Given the description of an element on the screen output the (x, y) to click on. 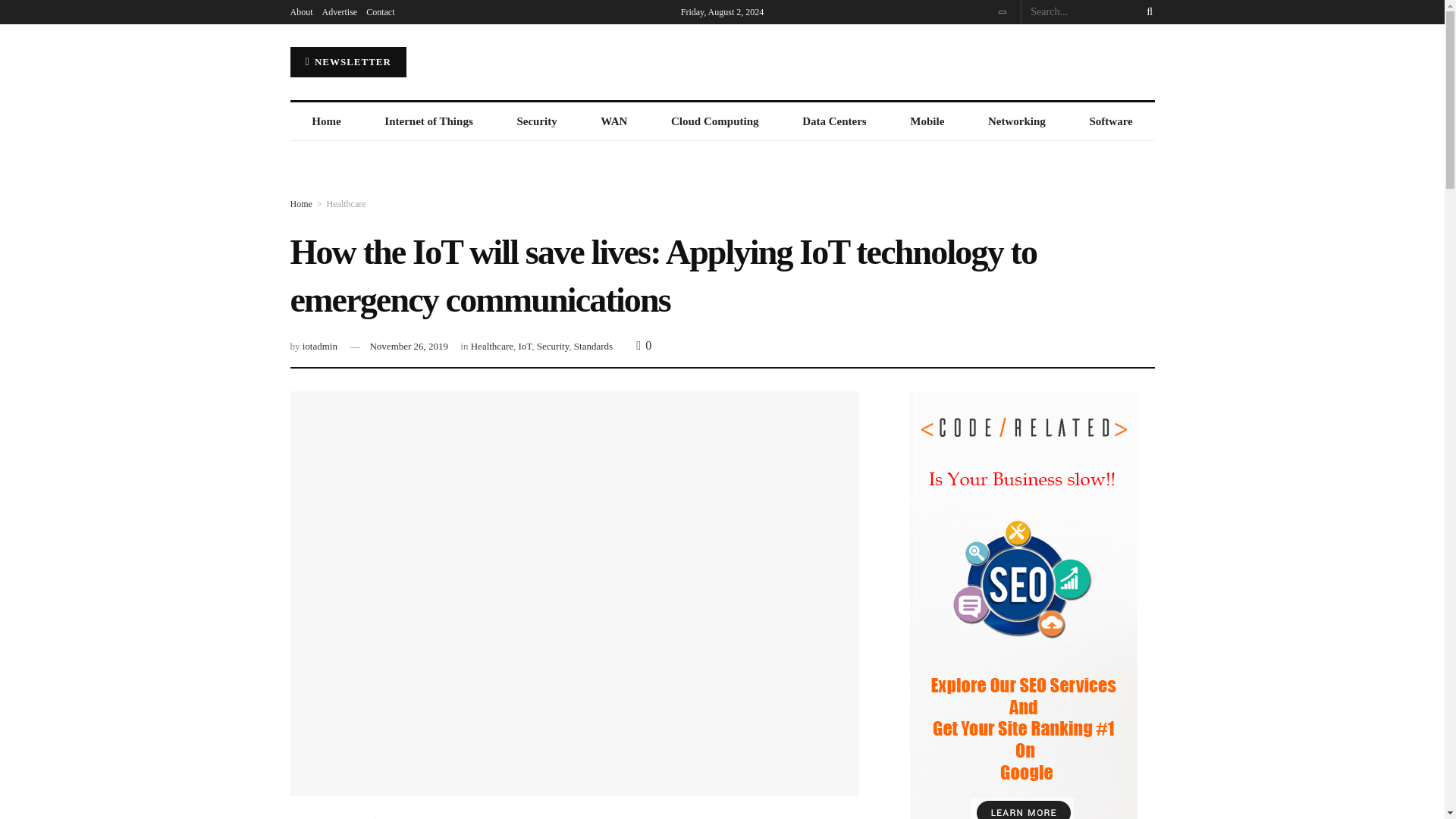
Home (325, 121)
Home (300, 204)
WAN (614, 121)
Mobile (927, 121)
About (301, 12)
IoT (525, 346)
Healthcare (346, 204)
Data Centers (834, 121)
Software (1110, 121)
Contact (380, 12)
Internet of Things (428, 121)
November 26, 2019 (408, 346)
Healthcare (491, 346)
Advertise (338, 12)
Networking (1016, 121)
